Given the description of an element on the screen output the (x, y) to click on. 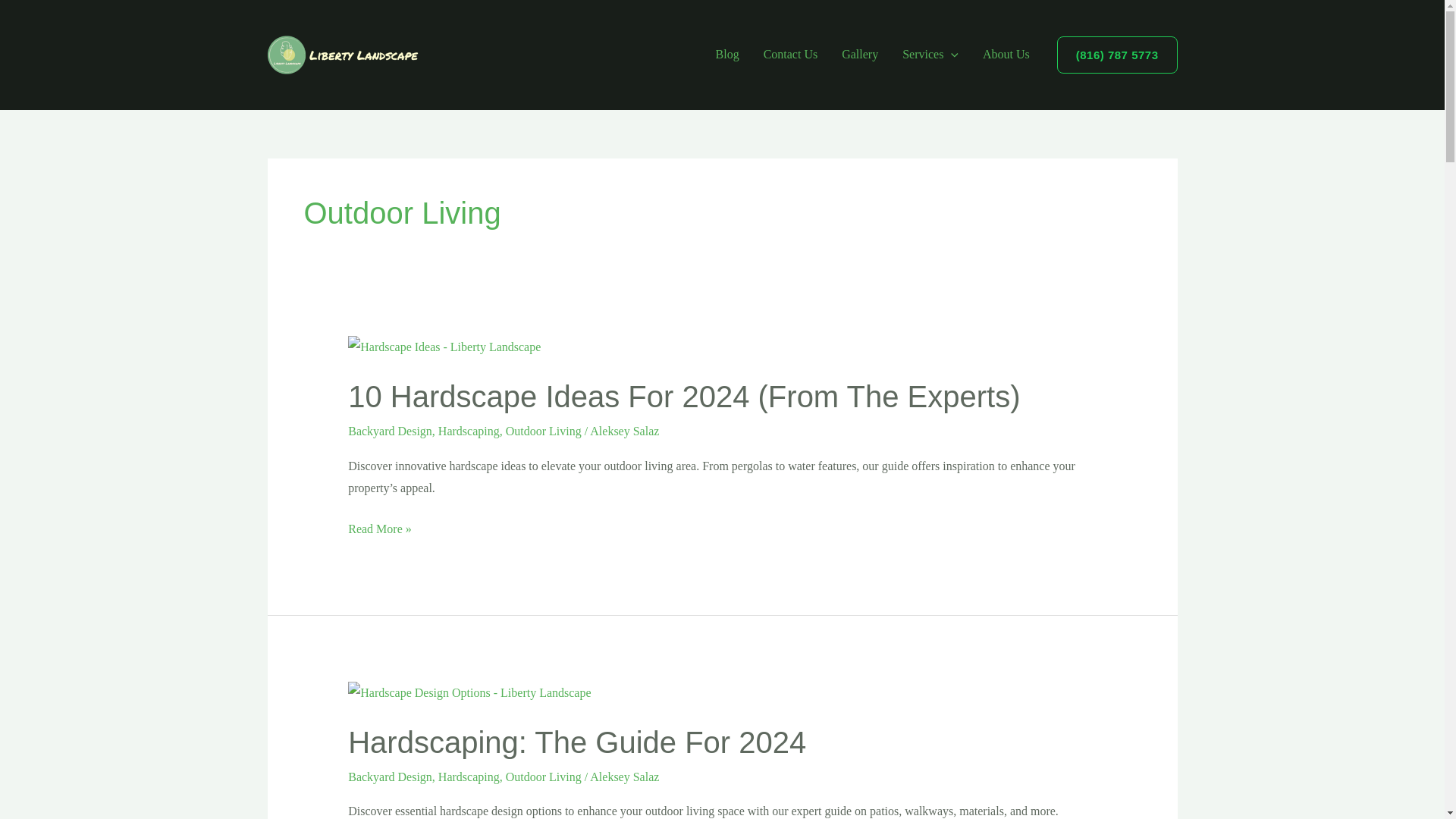
Backyard Design (389, 431)
Aleksey Salaz (624, 431)
Hardscaping (468, 431)
Blog (727, 54)
Gallery (859, 54)
Outdoor Living (542, 431)
Services (930, 54)
Contact Us (790, 54)
About Us (1006, 54)
View all posts by Aleksey Salaz (624, 776)
View all posts by Aleksey Salaz (624, 431)
